Given the description of an element on the screen output the (x, y) to click on. 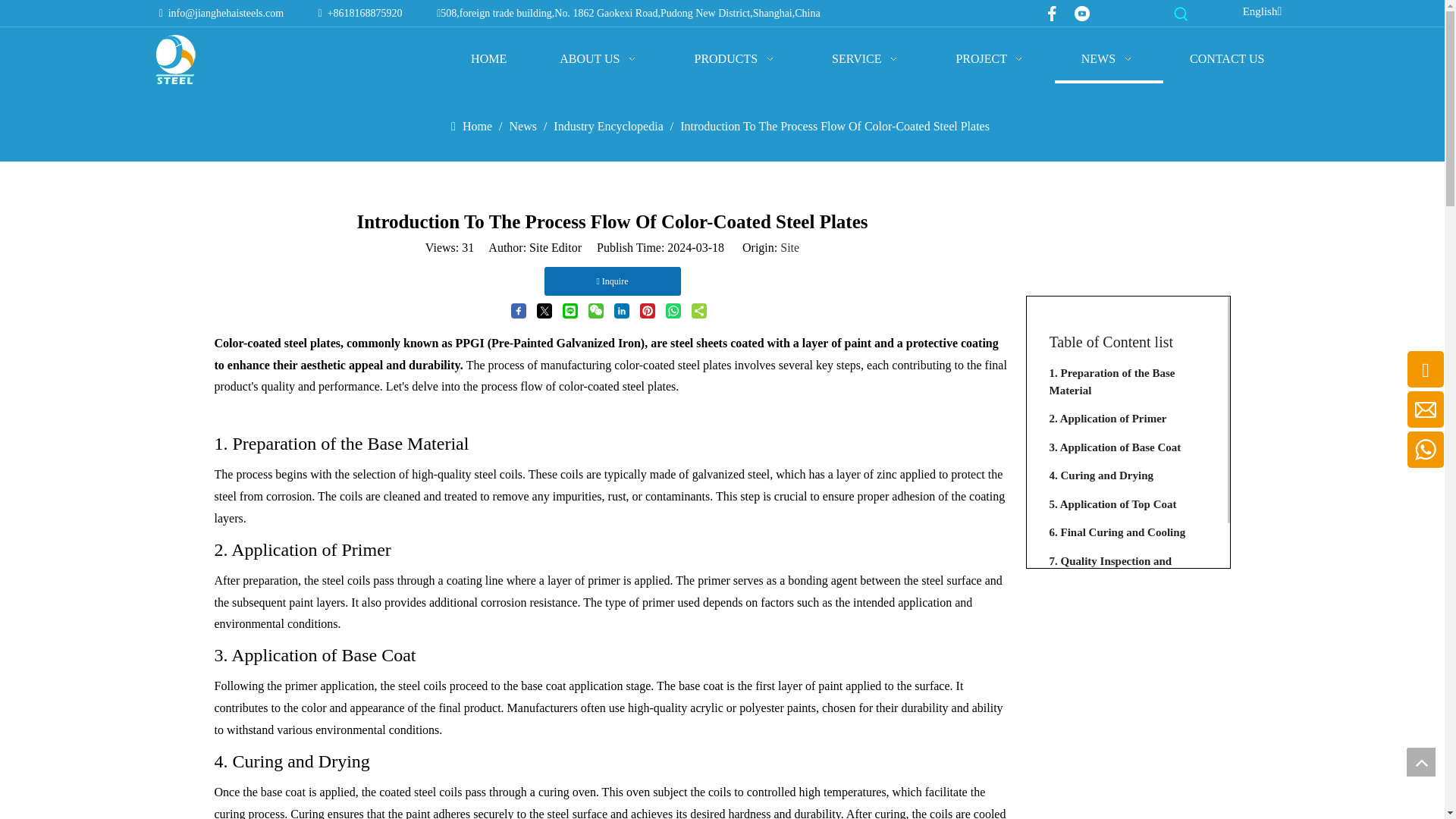
SERVICE   (866, 59)
ABOUT US   (599, 59)
Youtube (1082, 13)
PROJECT   (991, 59)
PRODUCTS   (735, 59)
HOME (488, 59)
Facebook (1051, 13)
